Given the description of an element on the screen output the (x, y) to click on. 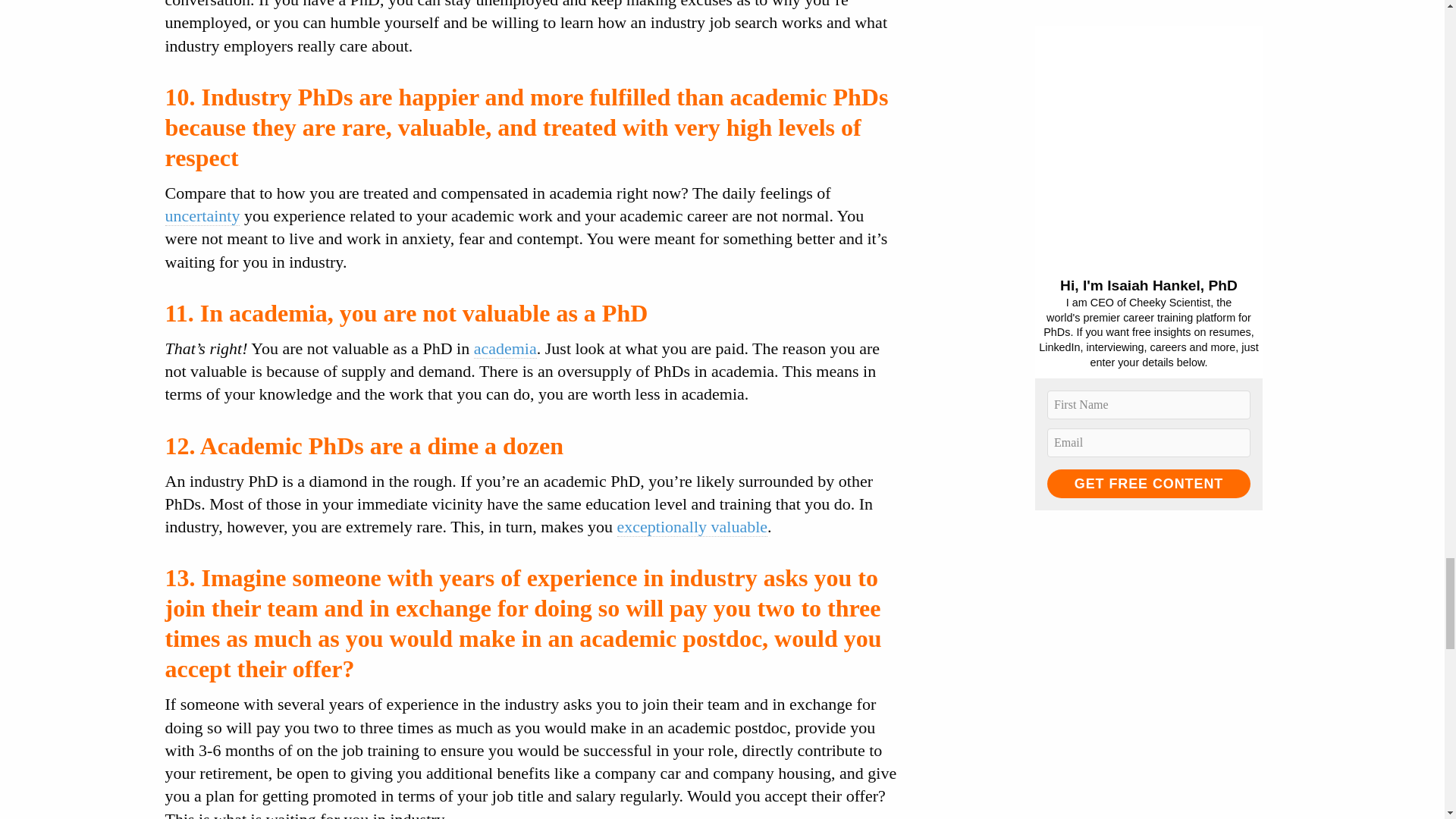
academia (505, 348)
exceptionally valuable (692, 526)
uncertainty (202, 216)
